Given the description of an element on the screen output the (x, y) to click on. 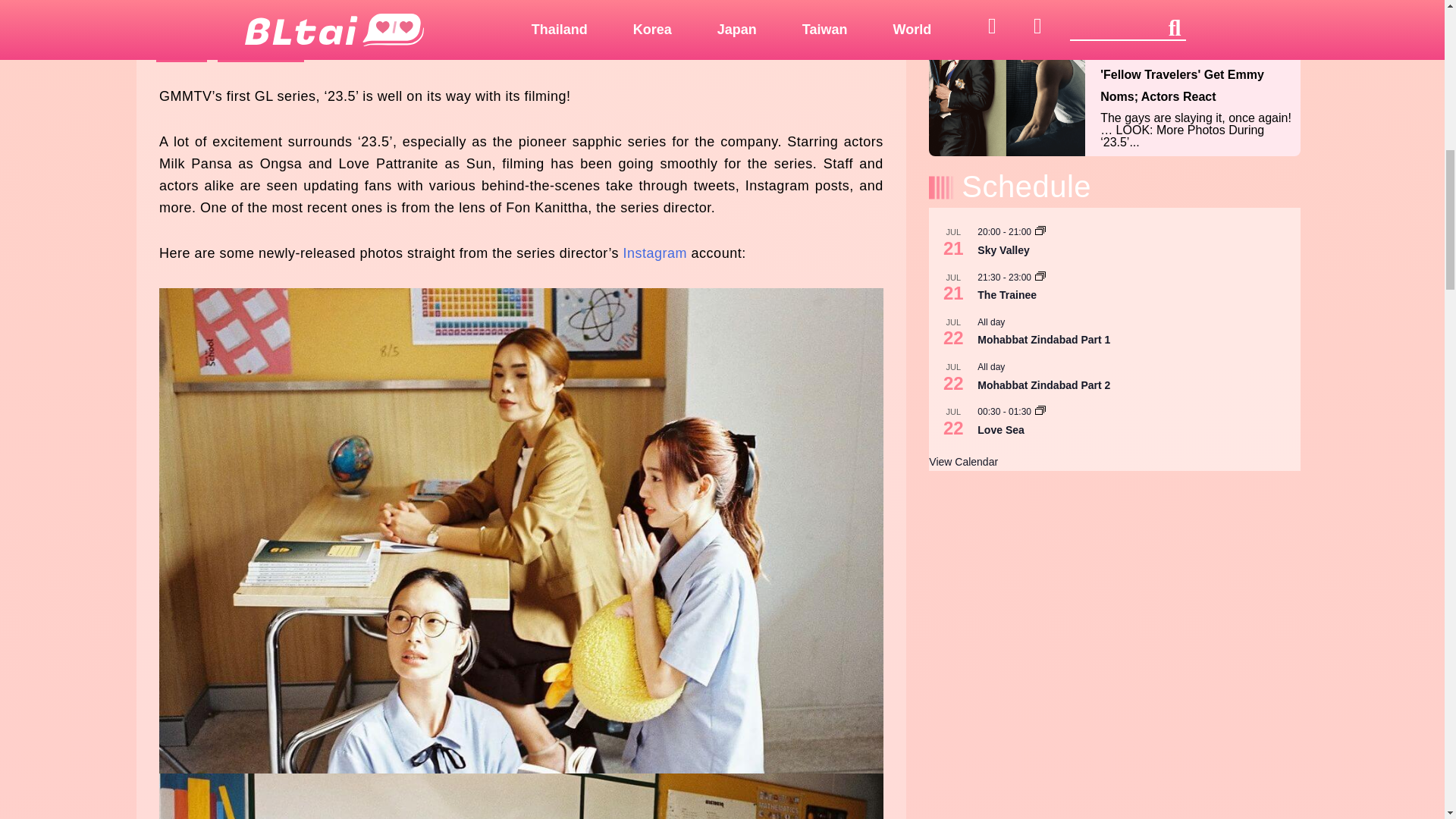
Event Series (1040, 409)
GMMTV (260, 48)
GL (180, 48)
Event Series (1040, 275)
Event Series (1040, 230)
Instagram (655, 253)
2023-08-07 (796, 48)
